Given the description of an element on the screen output the (x, y) to click on. 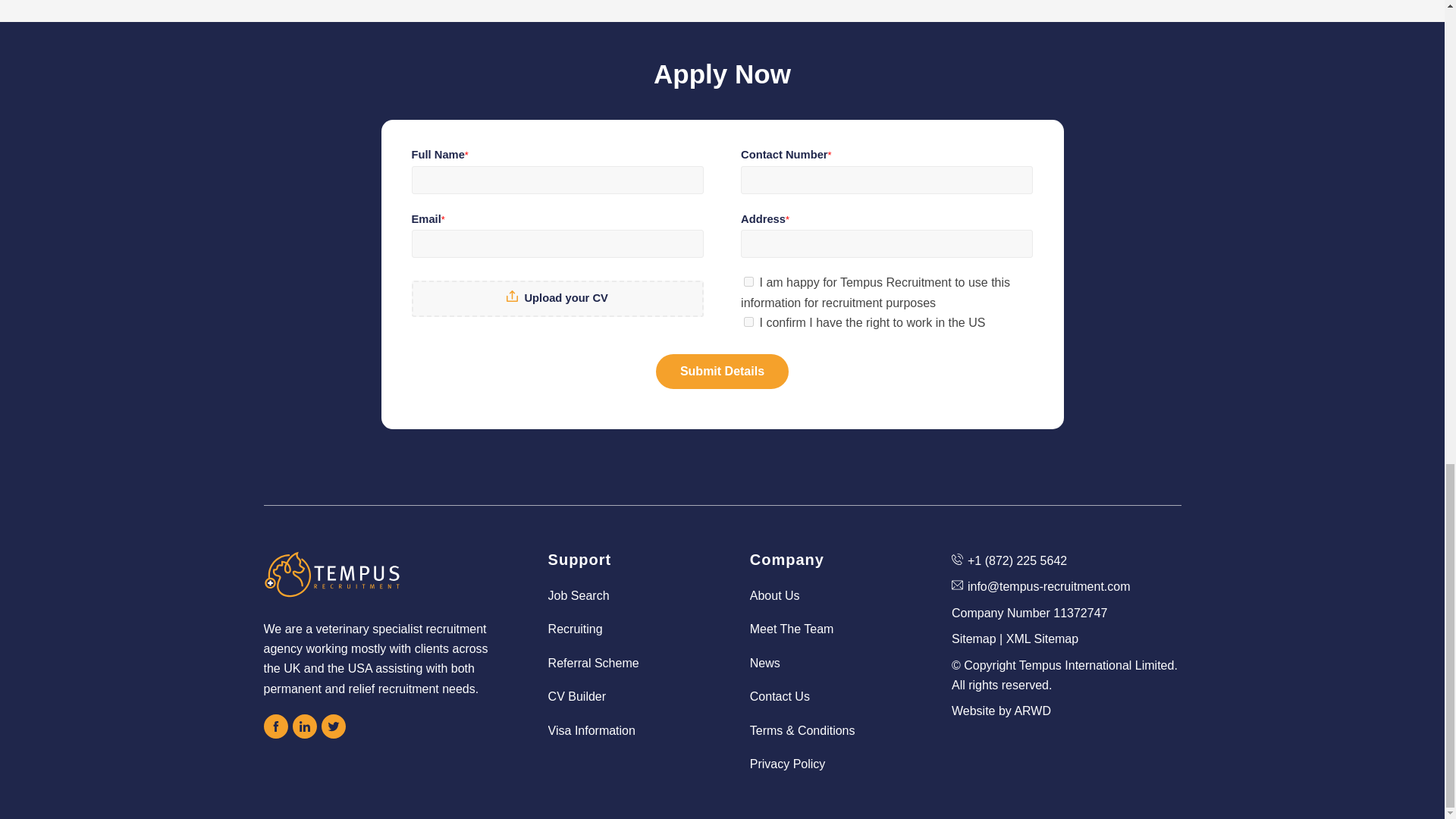
Submit Details (722, 371)
Visa Information (621, 730)
Job Search (621, 596)
CV Builder (621, 696)
1 (749, 321)
Recruiting (621, 629)
Submit Details (722, 371)
1 (749, 281)
Referral Scheme (621, 663)
